Given the description of an element on the screen output the (x, y) to click on. 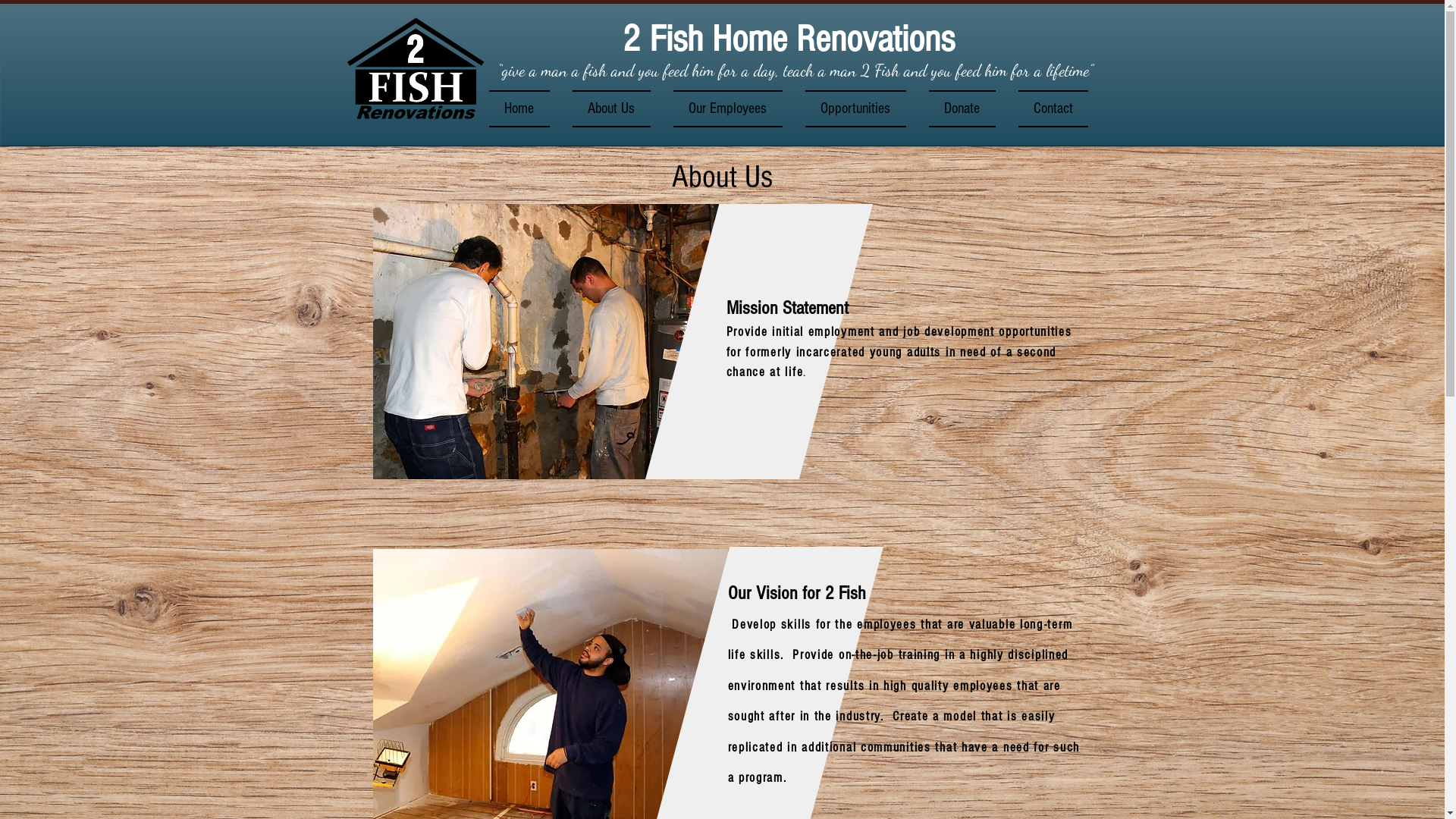
Donate Element type: text (962, 108)
2fish4.jpeg Element type: hover (553, 341)
Our Employees Element type: text (727, 108)
Home Element type: text (524, 108)
Contact Element type: text (1047, 108)
